Given the description of an element on the screen output the (x, y) to click on. 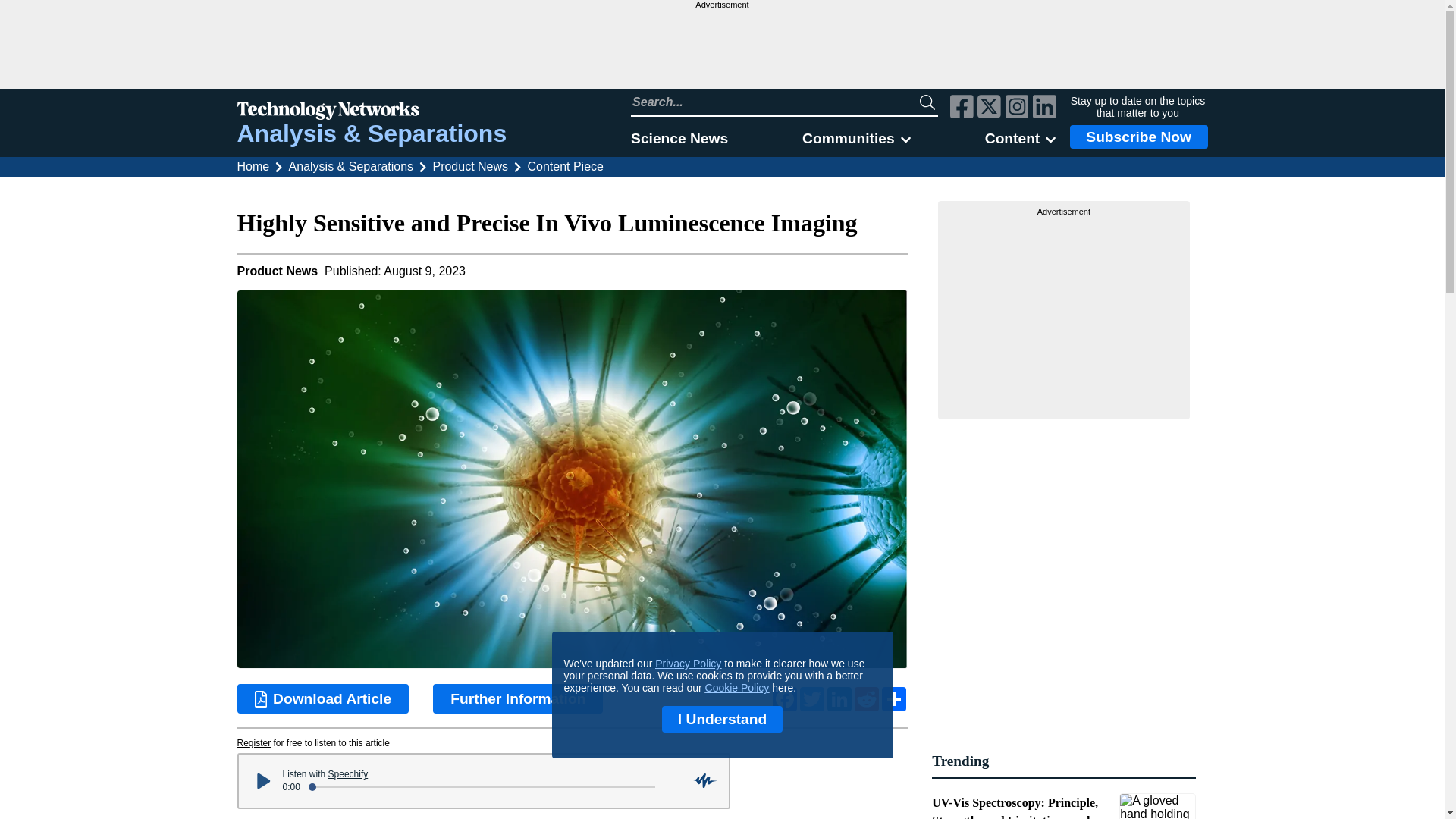
I Understand (722, 718)
3rd party ad content (1063, 312)
Privacy Policy (687, 663)
Search Technology Networks website input field (775, 102)
Technology Networks logo (370, 112)
Cookie Policy (737, 687)
3rd party ad content (721, 49)
